Given the description of an element on the screen output the (x, y) to click on. 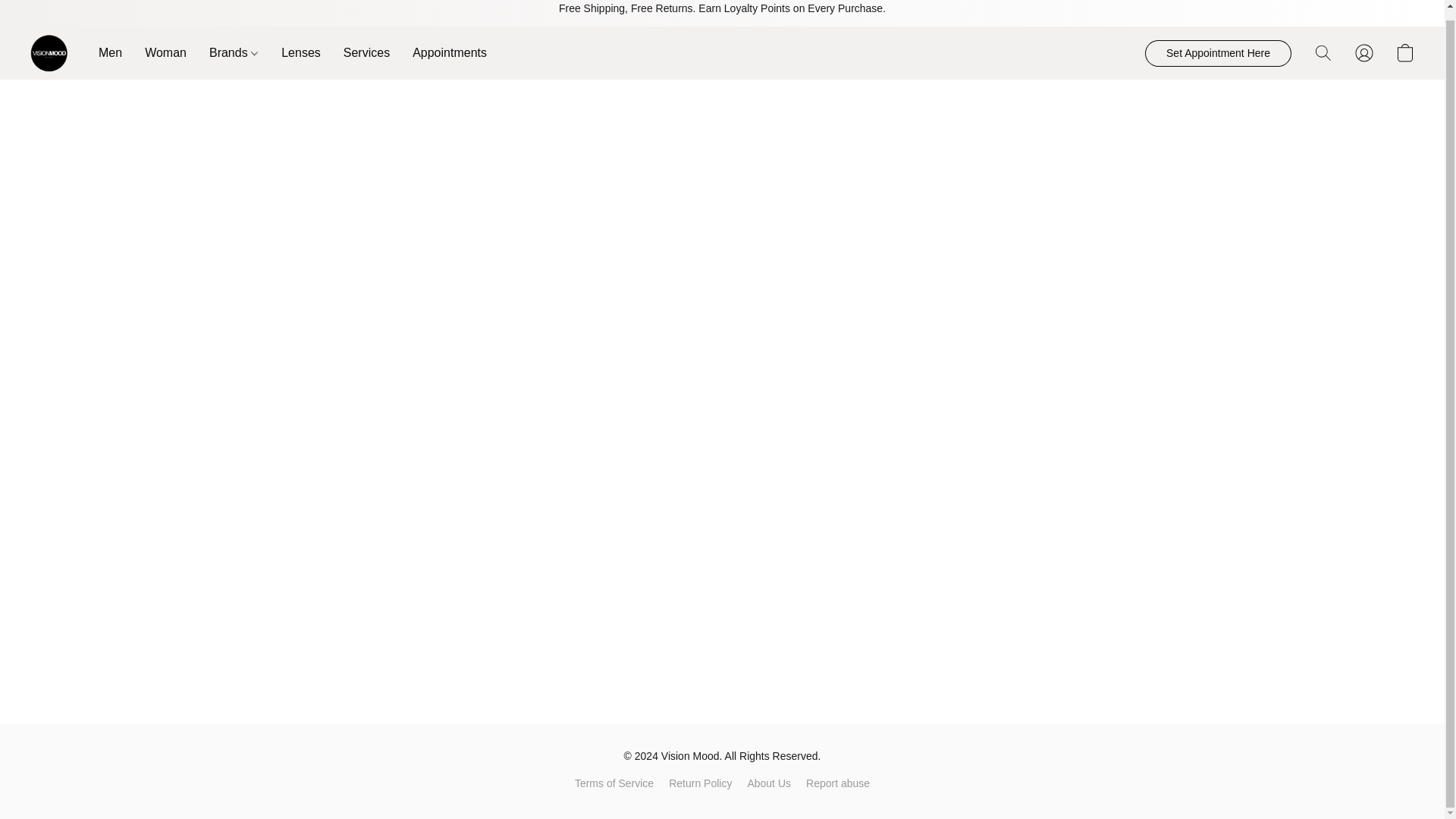
Go to your shopping cart (1404, 52)
Search the website (1323, 52)
Appointments (443, 52)
Brands (233, 52)
Set Appointment Here (1217, 53)
Terms of Service (614, 782)
Men (116, 52)
Report abuse (837, 782)
Return Policy (700, 782)
Lenses (300, 52)
